Given the description of an element on the screen output the (x, y) to click on. 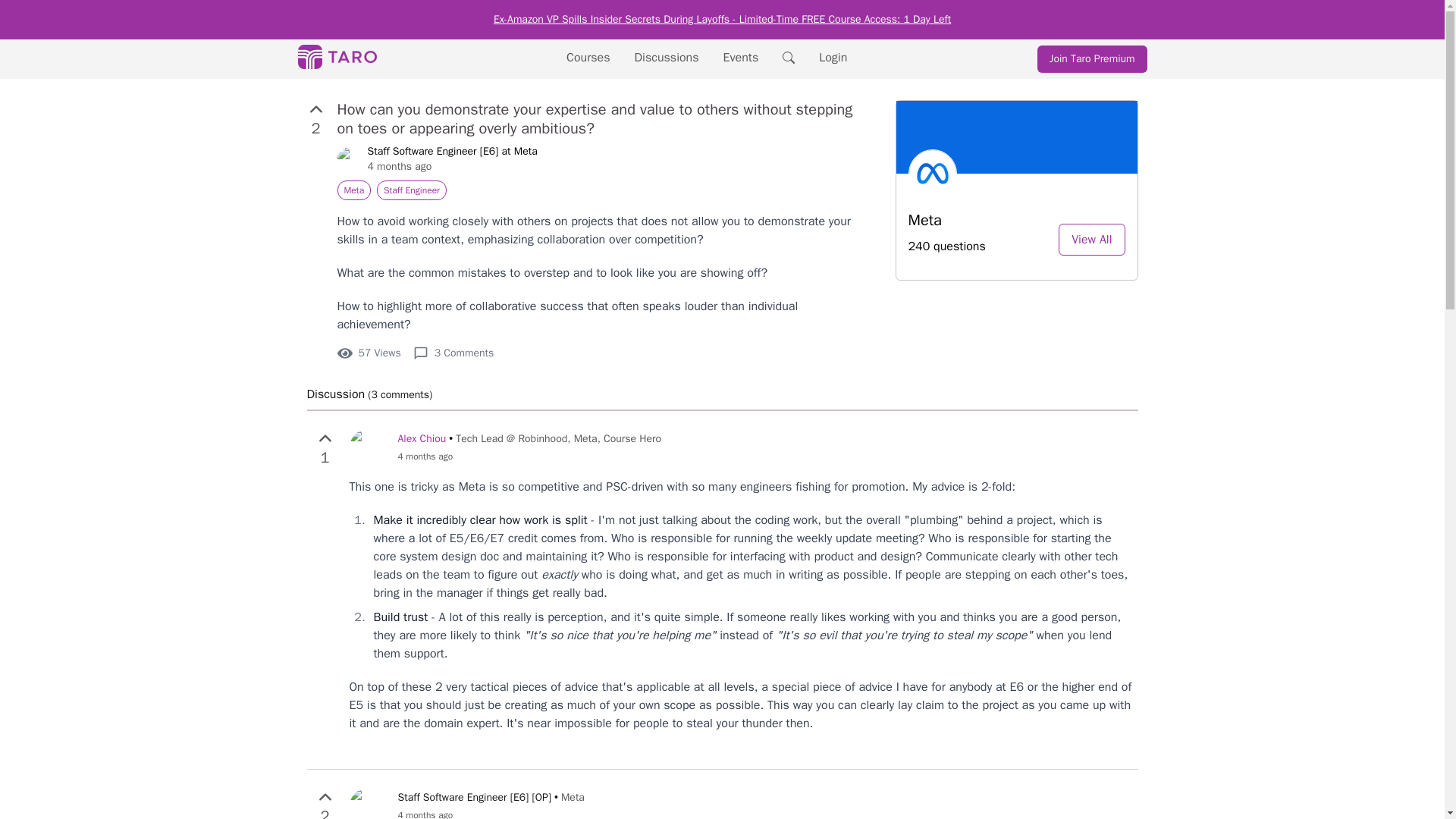
View All (1091, 239)
Discussions (666, 57)
Wednesday March 20, 11:08pm (490, 814)
Alex Chiou (421, 438)
Courses (588, 57)
Events (740, 57)
View All (1091, 239)
Wednesday March 20, 10:52pm (529, 456)
Join Taro Premium (1091, 58)
Meta (353, 189)
Staff Engineer (411, 189)
Tuesday March 19, 10:23pm (451, 166)
